Given the description of an element on the screen output the (x, y) to click on. 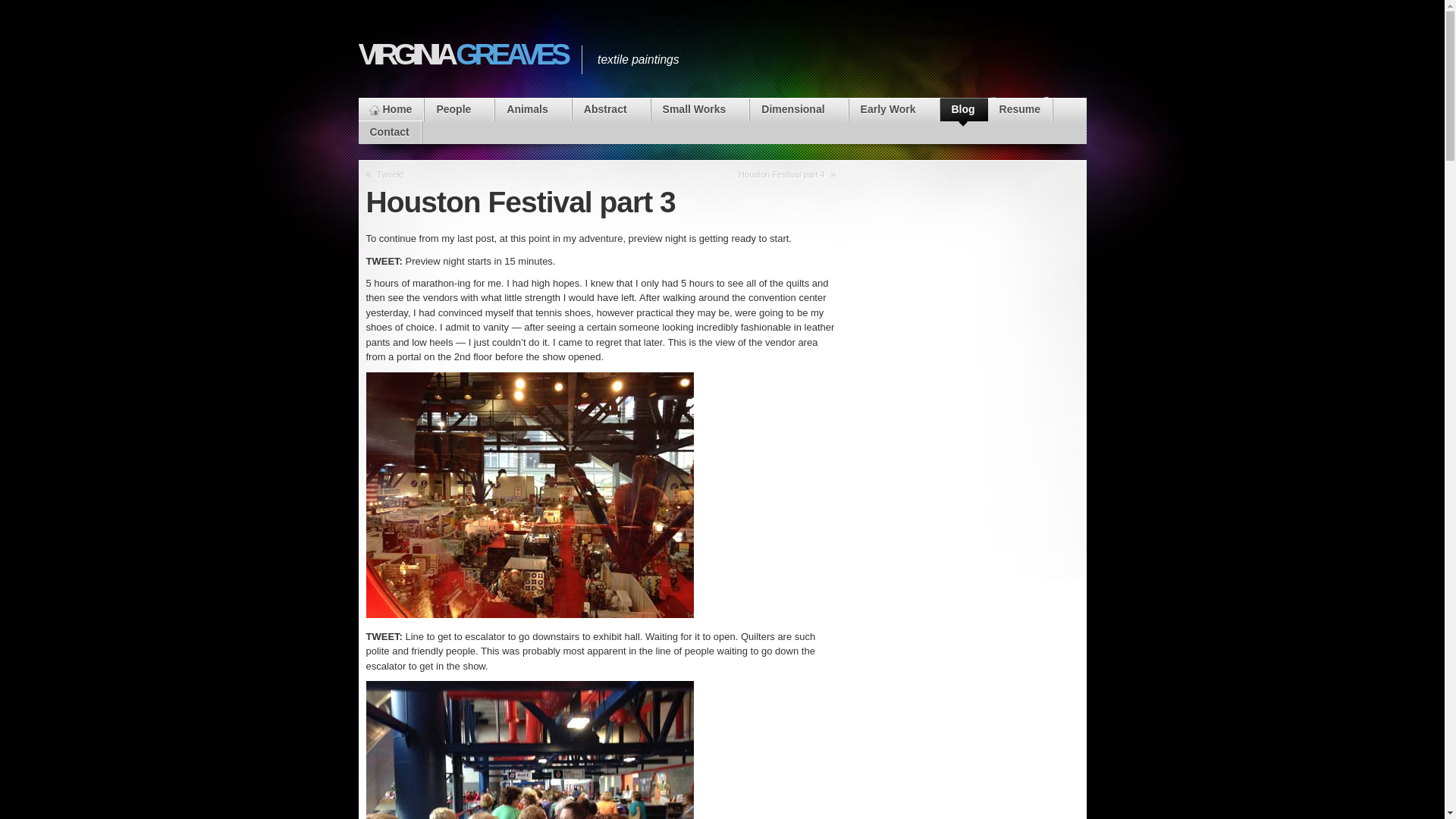
RSS Feeds (893, 120)
Home Page (390, 109)
Facebook Page (946, 120)
Email (1050, 120)
Twitter (998, 120)
Animals (532, 109)
Home (390, 109)
VIRGINIA GREAVES (462, 54)
People (459, 109)
